Given the description of an element on the screen output the (x, y) to click on. 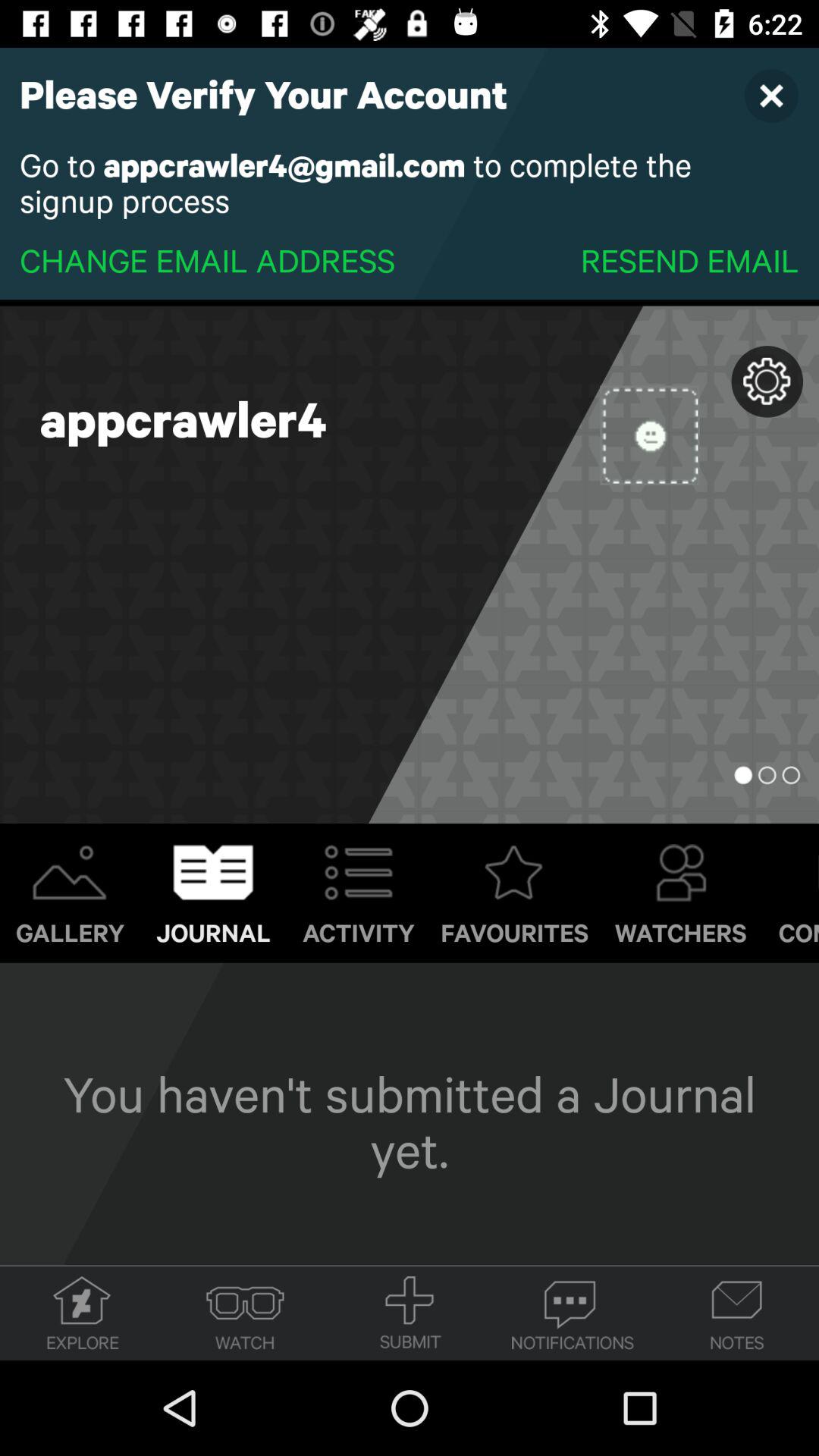
press the item below the go to appcrawler4 (207, 259)
